Given the description of an element on the screen output the (x, y) to click on. 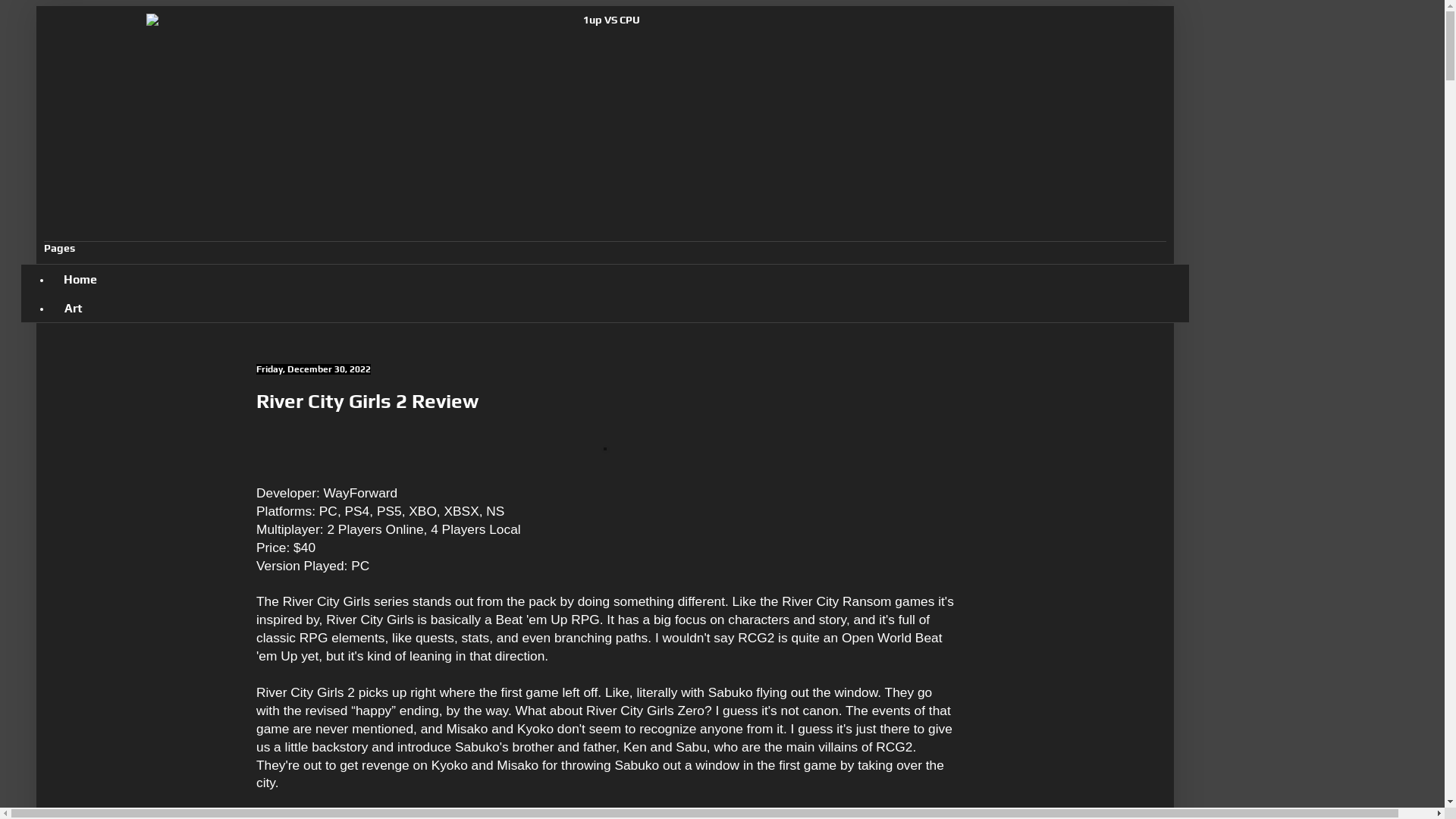
River City Girls 2 Review Element type: text (367, 400)
Home Element type: text (80, 278)
Art Element type: text (72, 307)
